Given the description of an element on the screen output the (x, y) to click on. 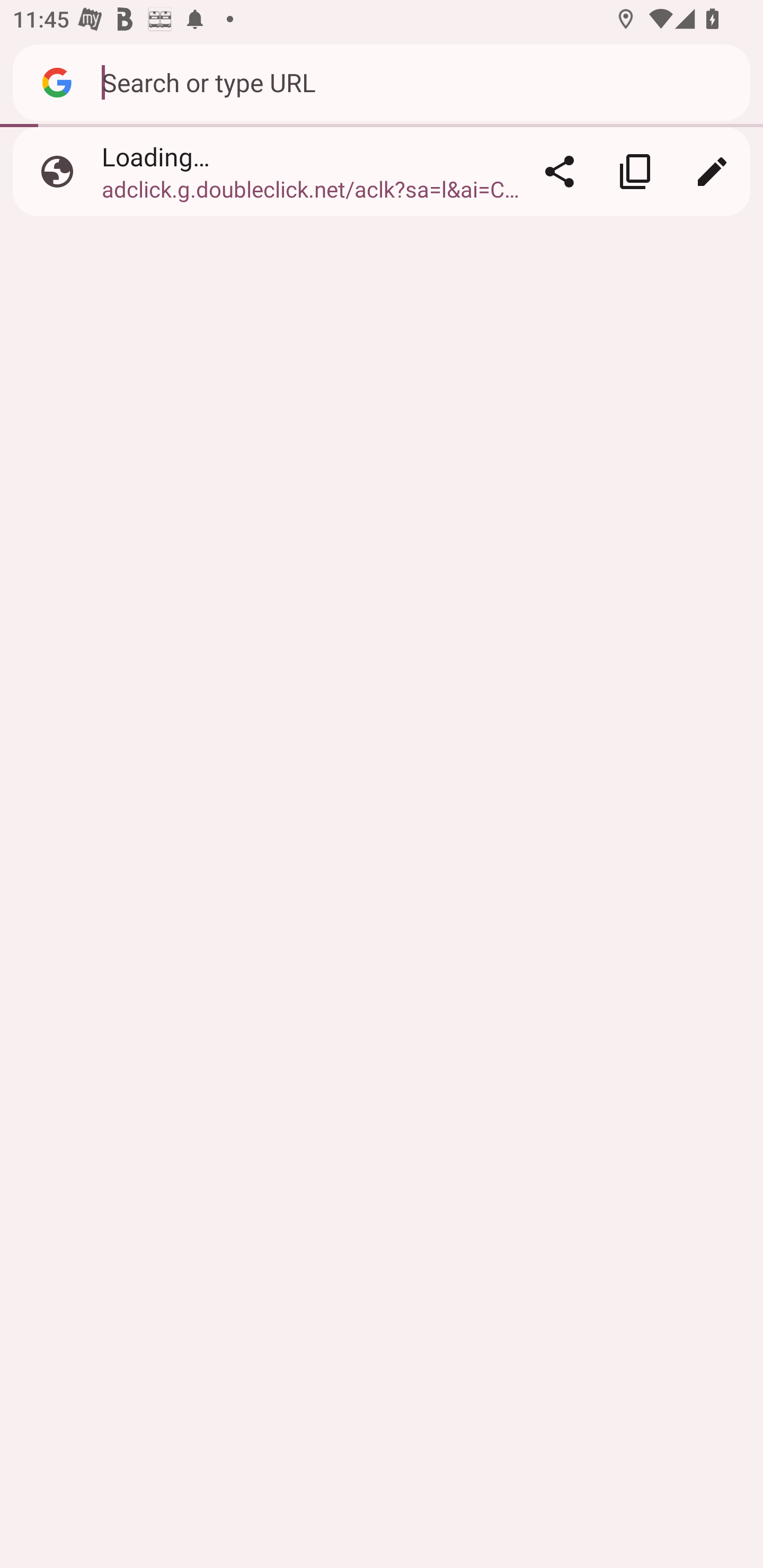
Search or type URL (415, 82)
Share… (559, 171)
Copy link (635, 171)
Edit (711, 171)
